Given the description of an element on the screen output the (x, y) to click on. 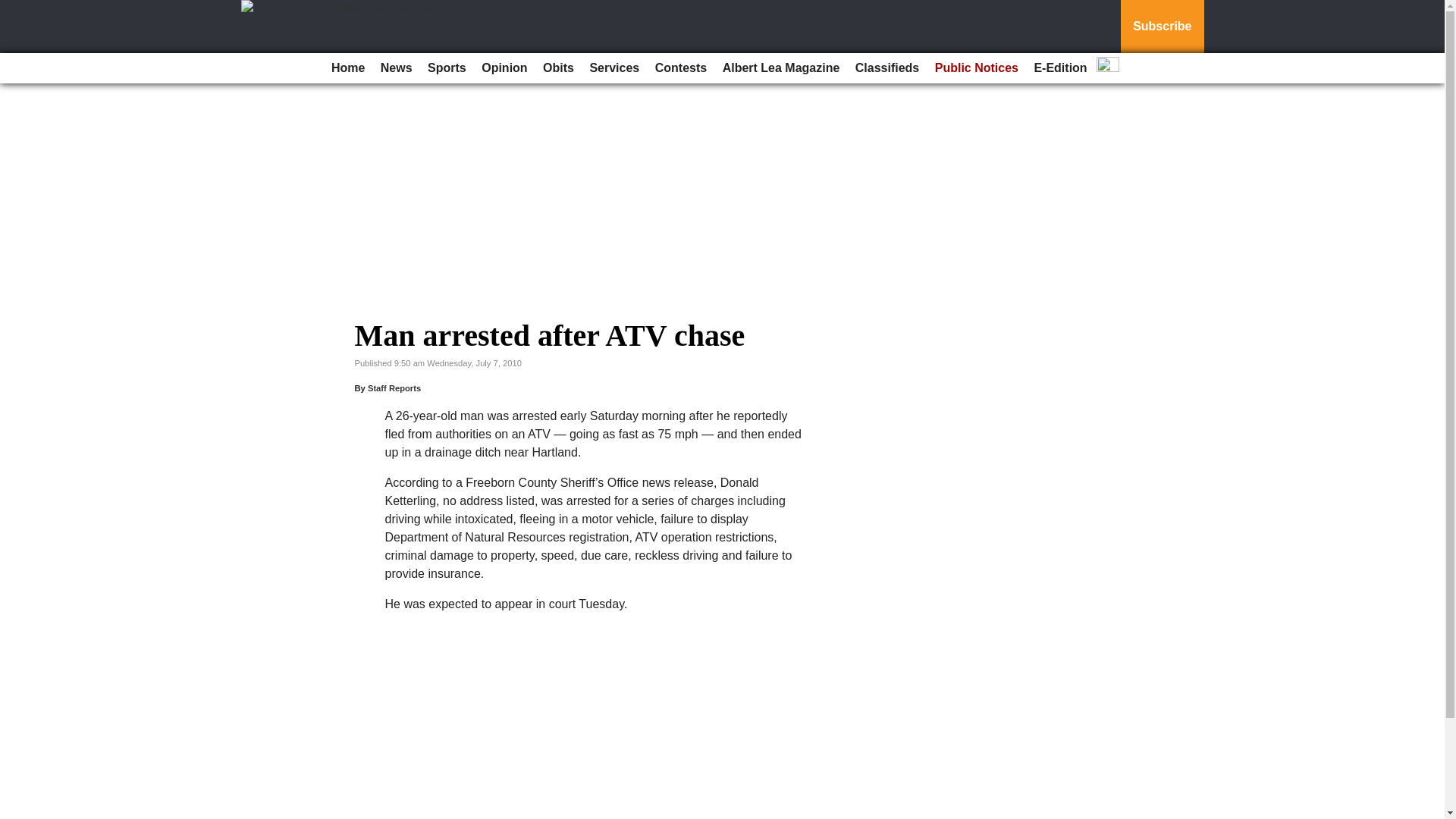
Sports (446, 68)
News (396, 68)
Services (614, 68)
Obits (558, 68)
Home (347, 68)
Subscribe (1162, 26)
Opinion (504, 68)
